Given the description of an element on the screen output the (x, y) to click on. 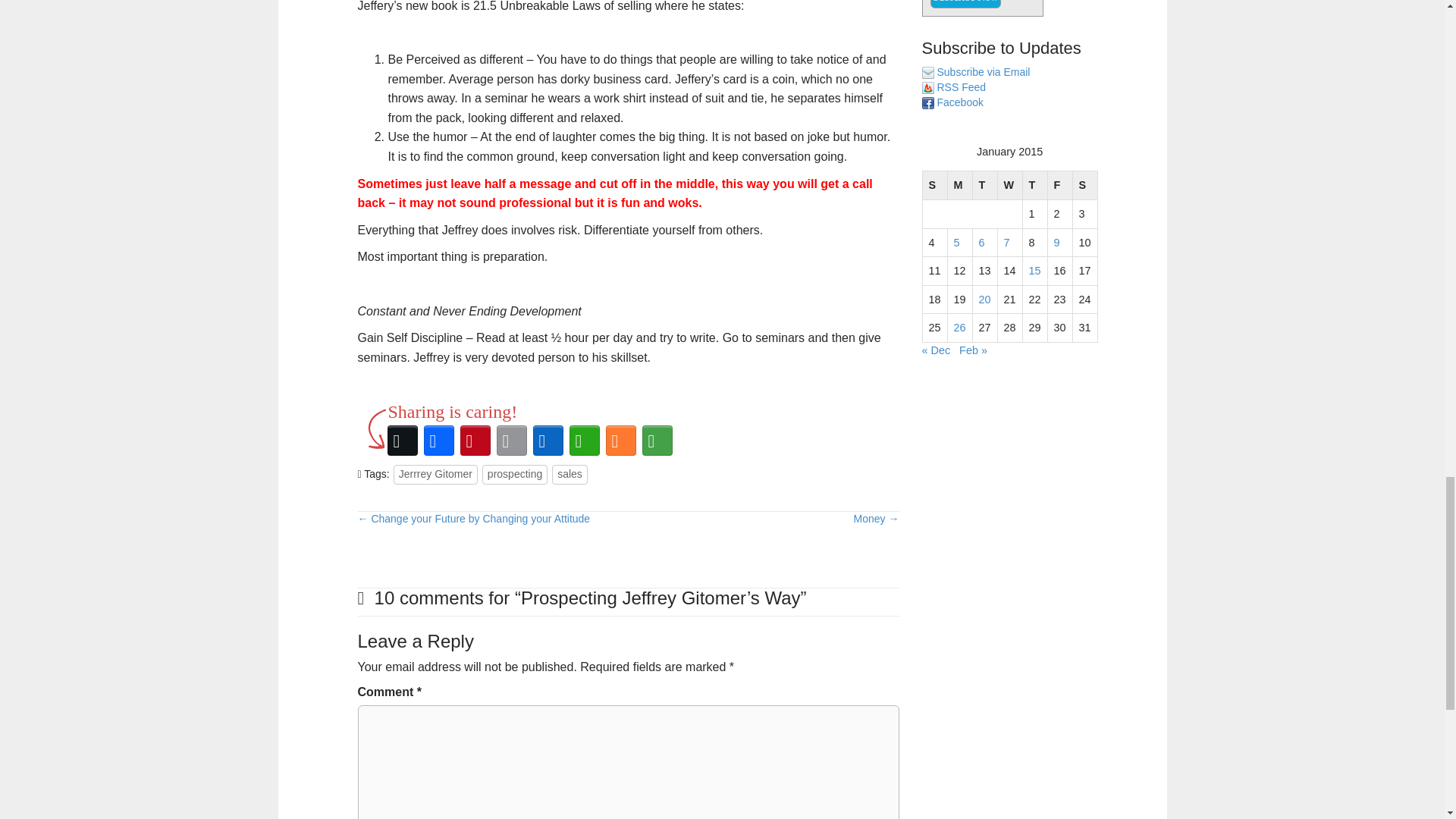
Connect on Facebook (960, 102)
WhatsApp (584, 440)
Subscribe Now (965, 4)
Jerrrey Gitomer (435, 474)
prospecting (514, 474)
Pinterest (475, 440)
Facebook (438, 440)
Subscribe to posts via Email (983, 71)
Subscribe to RSS Feed (962, 87)
LinkedIn (547, 440)
Blogger Post (620, 440)
Email This (511, 440)
More Options (657, 440)
sales (569, 474)
